Given the description of an element on the screen output the (x, y) to click on. 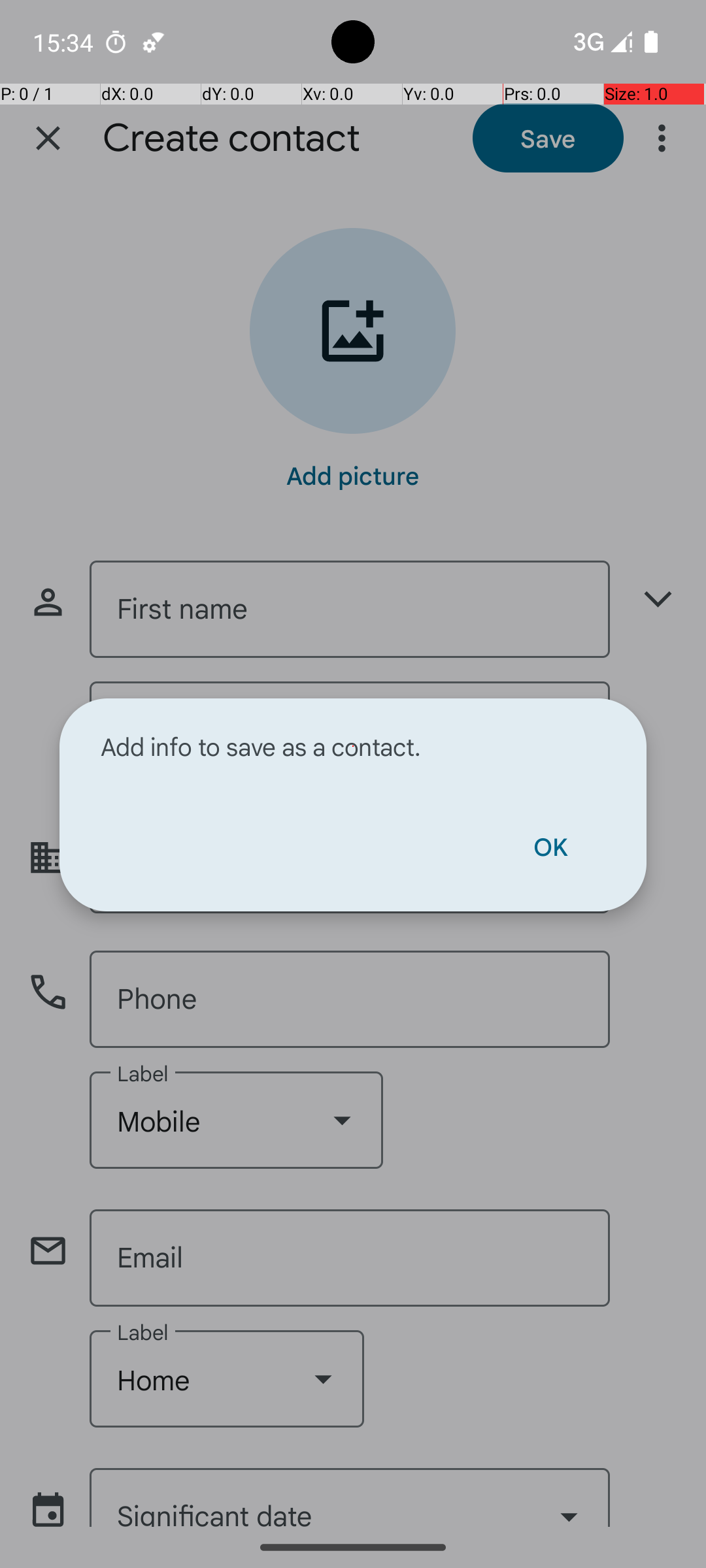
Add info to save as a contact. Element type: android.widget.TextView (352, 746)
Android System notification: Wi‑Fi will turn on automatically Element type: android.widget.ImageView (153, 41)
